Given the description of an element on the screen output the (x, y) to click on. 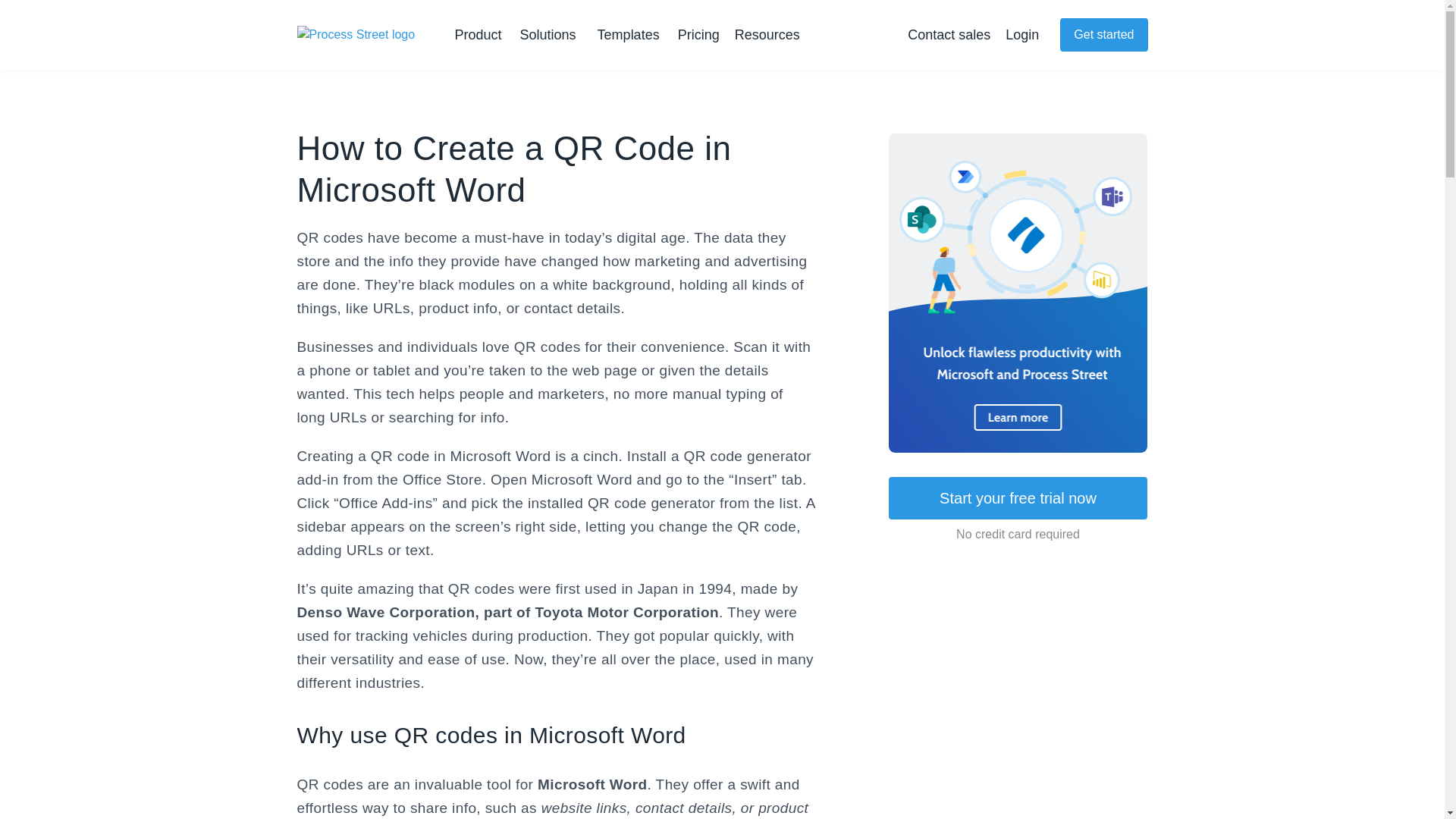
Product (481, 34)
Solutions (550, 34)
Process Street (358, 35)
Process Street workflow templates (627, 34)
Templates (627, 34)
Process Street pricing (698, 34)
Process Street login (1022, 34)
Contact sales (948, 34)
Contact Process Street sales (948, 34)
Get started (1103, 34)
